Given the description of an element on the screen output the (x, y) to click on. 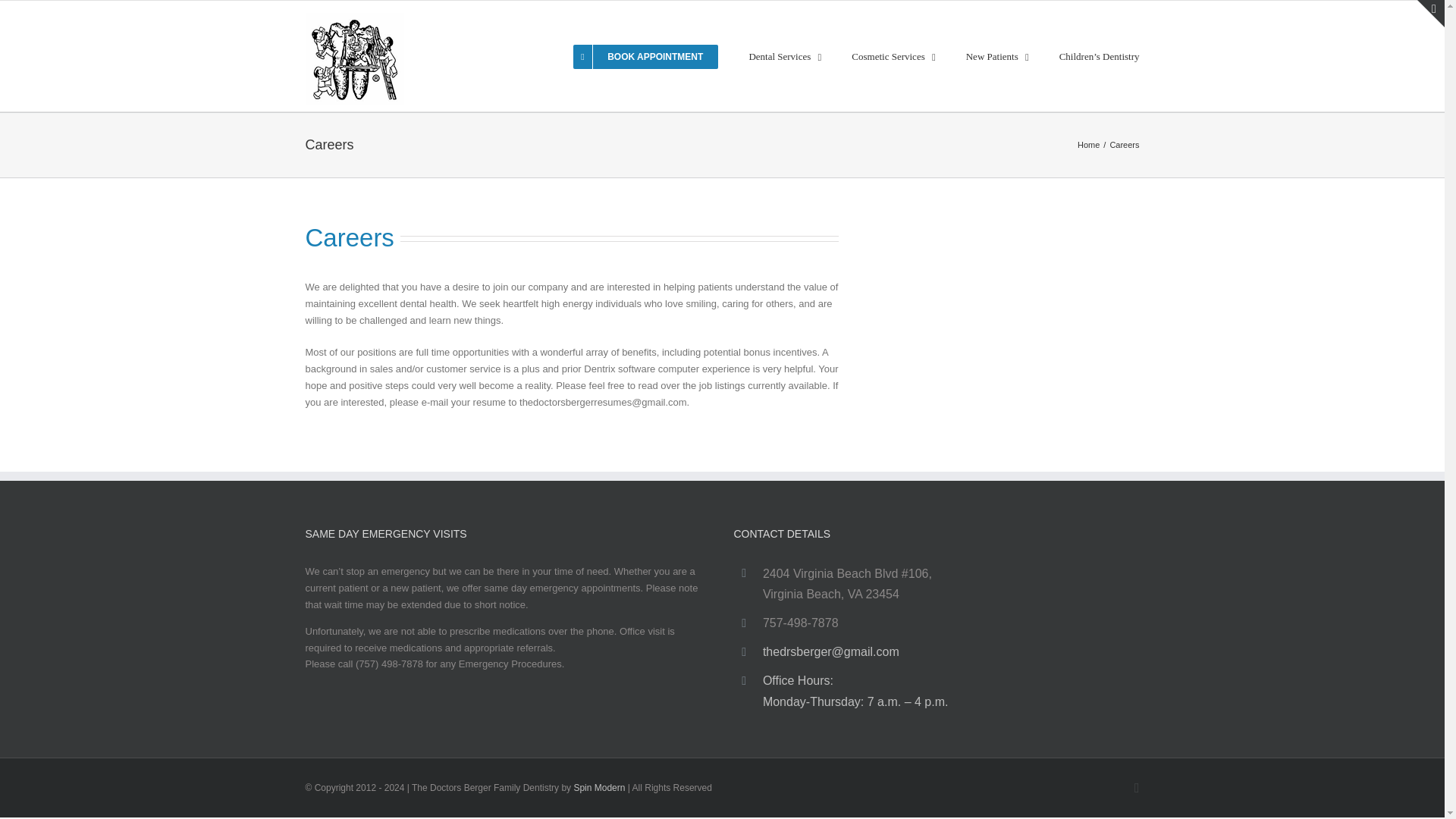
BOOK APPOINTMENT (645, 55)
Home (1088, 144)
Spin Modern (598, 787)
